Given the description of an element on the screen output the (x, y) to click on. 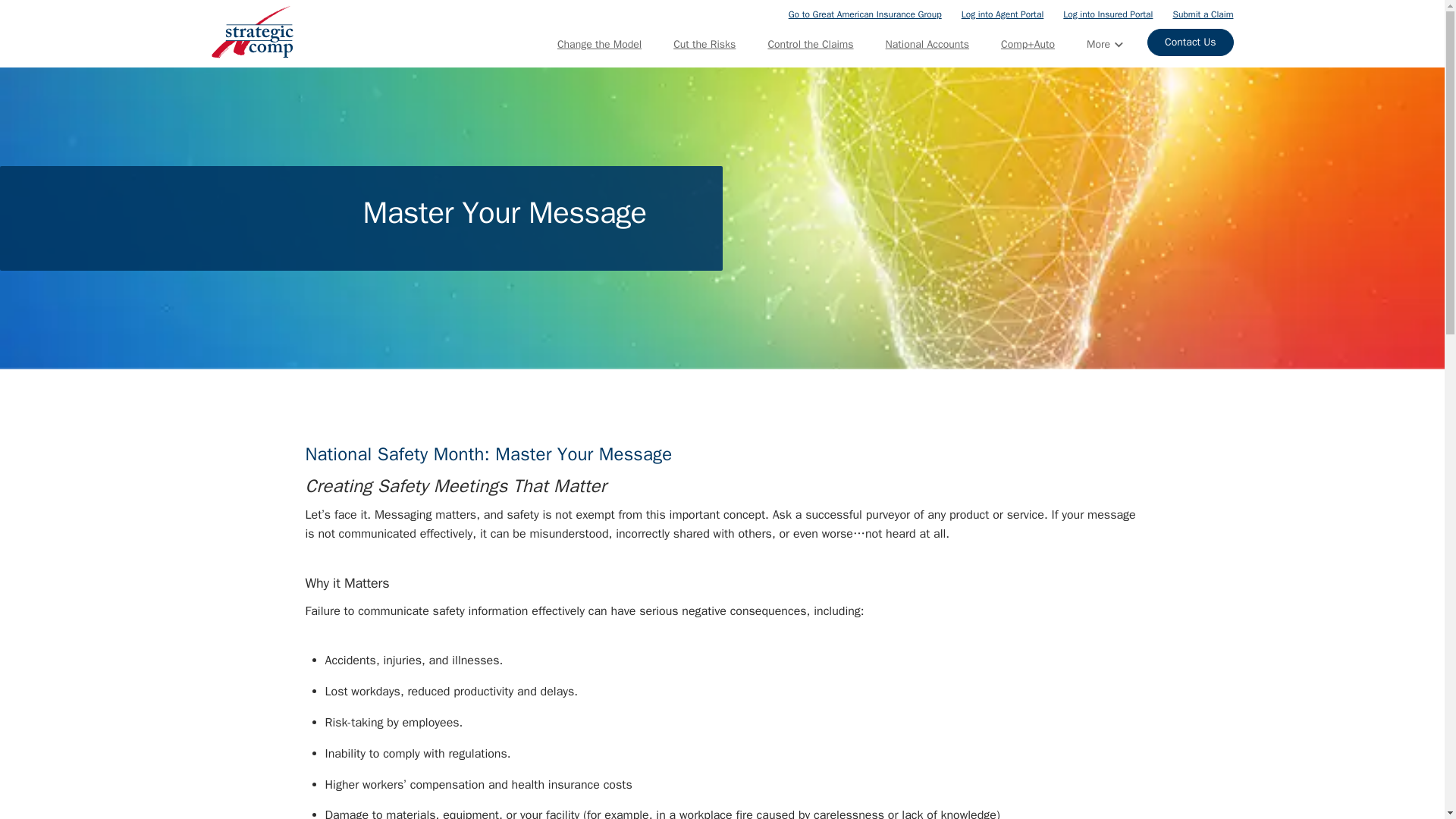
More (1104, 43)
Log into Insured Portal (1107, 14)
Log into Agent Portal (1001, 14)
Contact Us (1190, 42)
National Accounts (926, 43)
Change the Model (599, 43)
Go to Great American Insurance Group (865, 14)
Submit a Claim (1202, 14)
Cut the Risks (703, 43)
Control the Claims (810, 43)
